Given the description of an element on the screen output the (x, y) to click on. 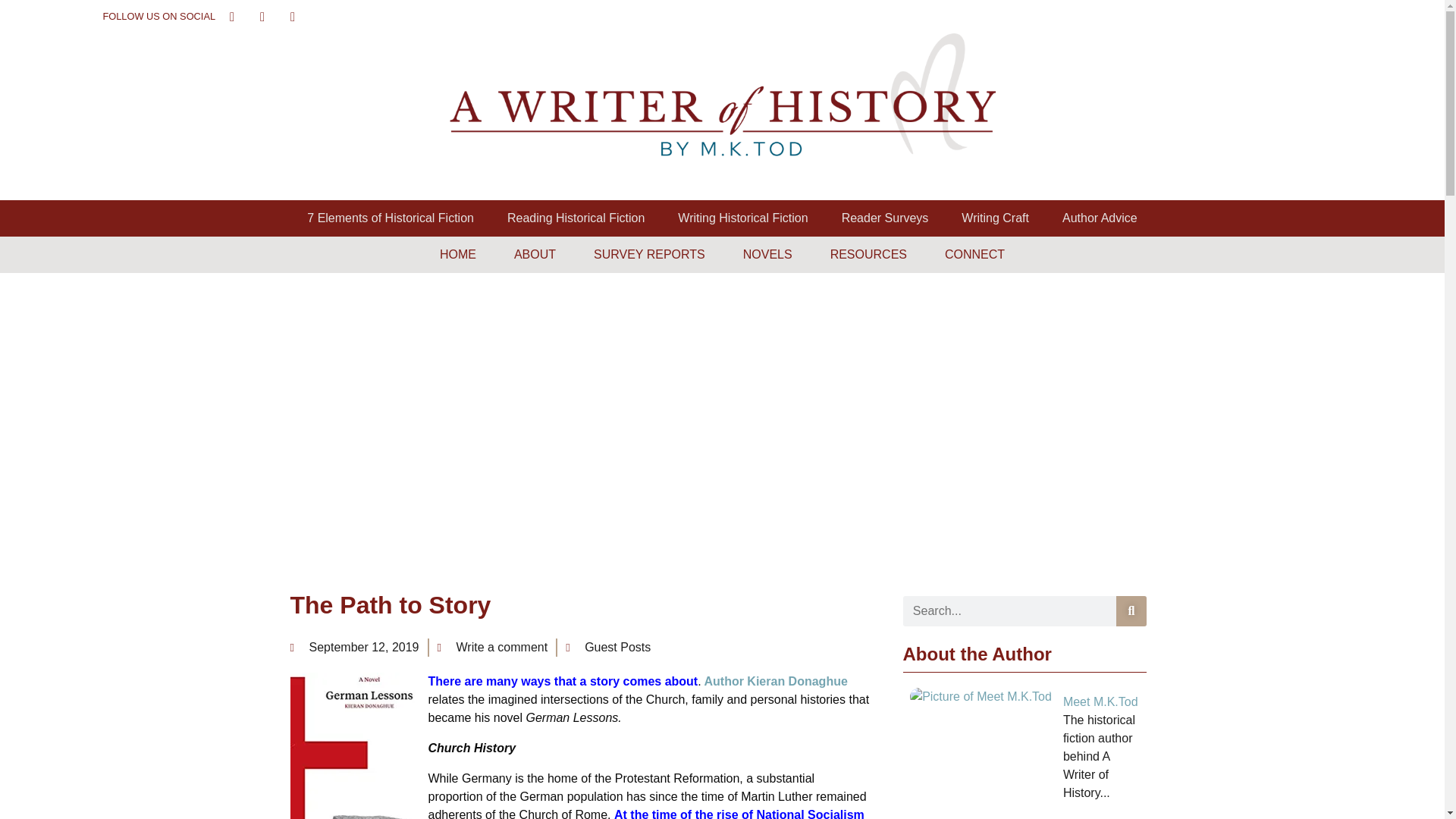
RESOURCES (868, 254)
Reading Historical Fiction (575, 217)
7 Elements of Historical Fiction (389, 217)
SURVEY REPORTS (649, 254)
HOME (457, 254)
Author Kieran Donaghue (774, 680)
ABOUT (534, 254)
CONNECT (974, 254)
Guest Posts (617, 646)
Reader Surveys (884, 217)
Writing Craft (994, 217)
NOVELS (767, 254)
Writing Historical Fiction (742, 217)
Write a comment (491, 647)
Author Advice (1099, 217)
